Given the description of an element on the screen output the (x, y) to click on. 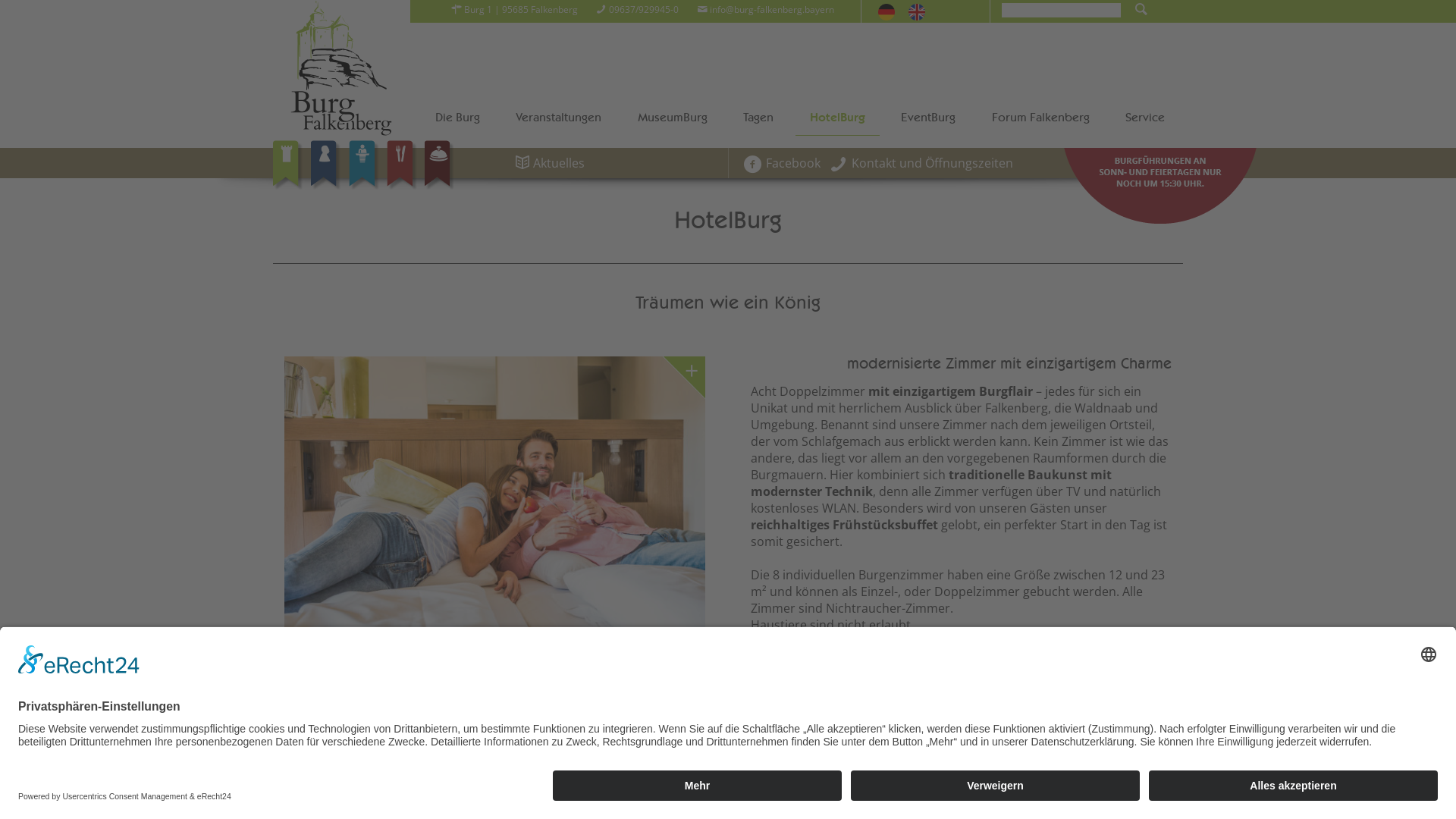
Burg 1 | 95685 Falkenberg Element type: text (513, 9)
+ Element type: text (494, 494)
EventBurg Element type: text (928, 118)
Forum Falkenberg Element type: text (1040, 118)
MuseumBurg Element type: text (672, 118)
info@burg-falkenberg.bayern Element type: text (763, 9)
Veranstaltungen Element type: text (559, 118)
Die Burg Element type: text (457, 118)
HotelBurg Element type: text (837, 118)
Service Element type: text (1145, 118)
09637/929945-0 Element type: text (635, 9)
Tagen Element type: text (758, 118)
Burg Falkenberg Element type: hover (341, 68)
Facebook Element type: text (780, 162)
